Given the description of an element on the screen output the (x, y) to click on. 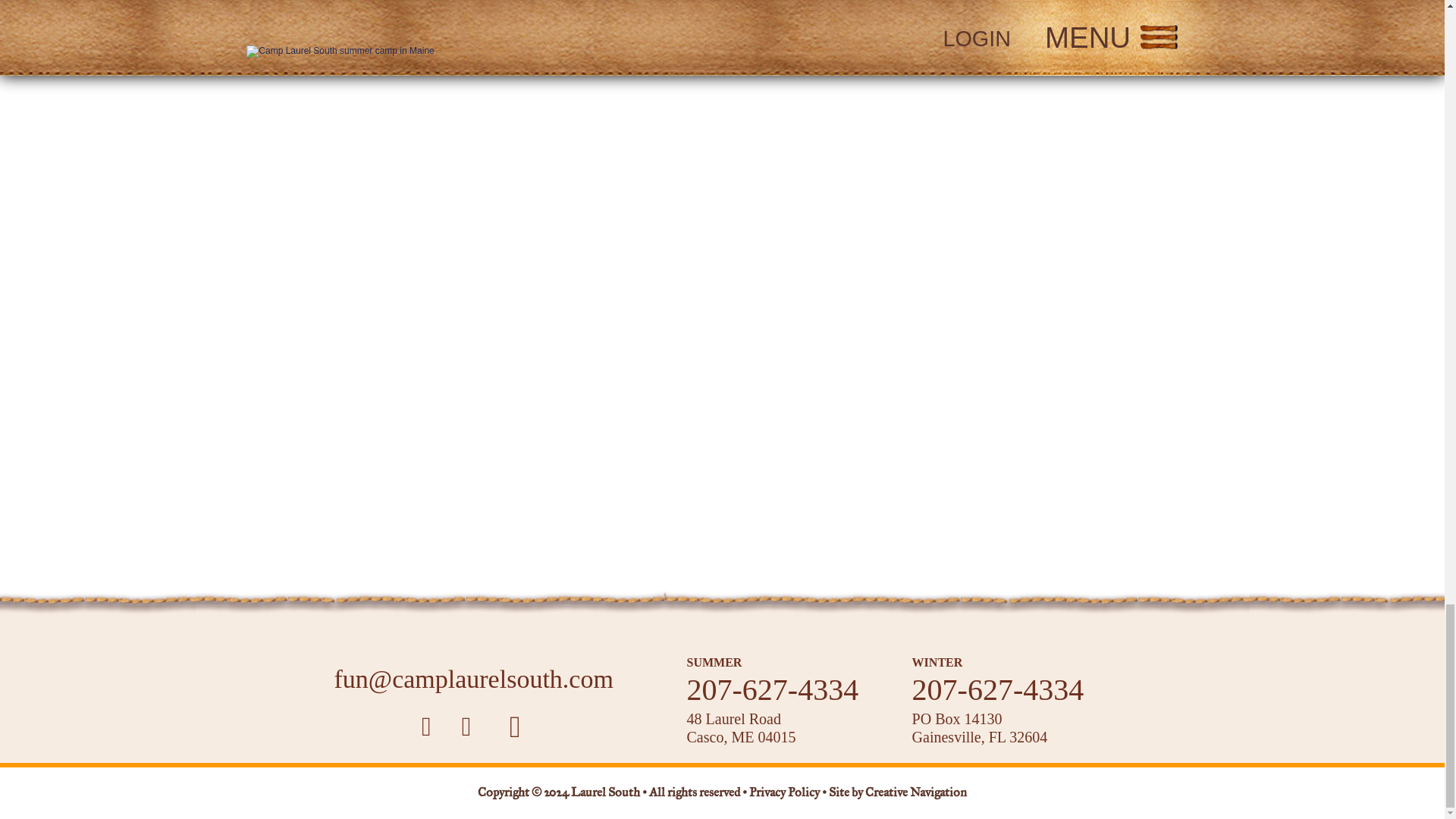
Summer phone number (773, 689)
Winter phone number (998, 689)
Accredited by the American Camp Association (366, 528)
Contact Laurel South (472, 679)
